Given the description of an element on the screen output the (x, y) to click on. 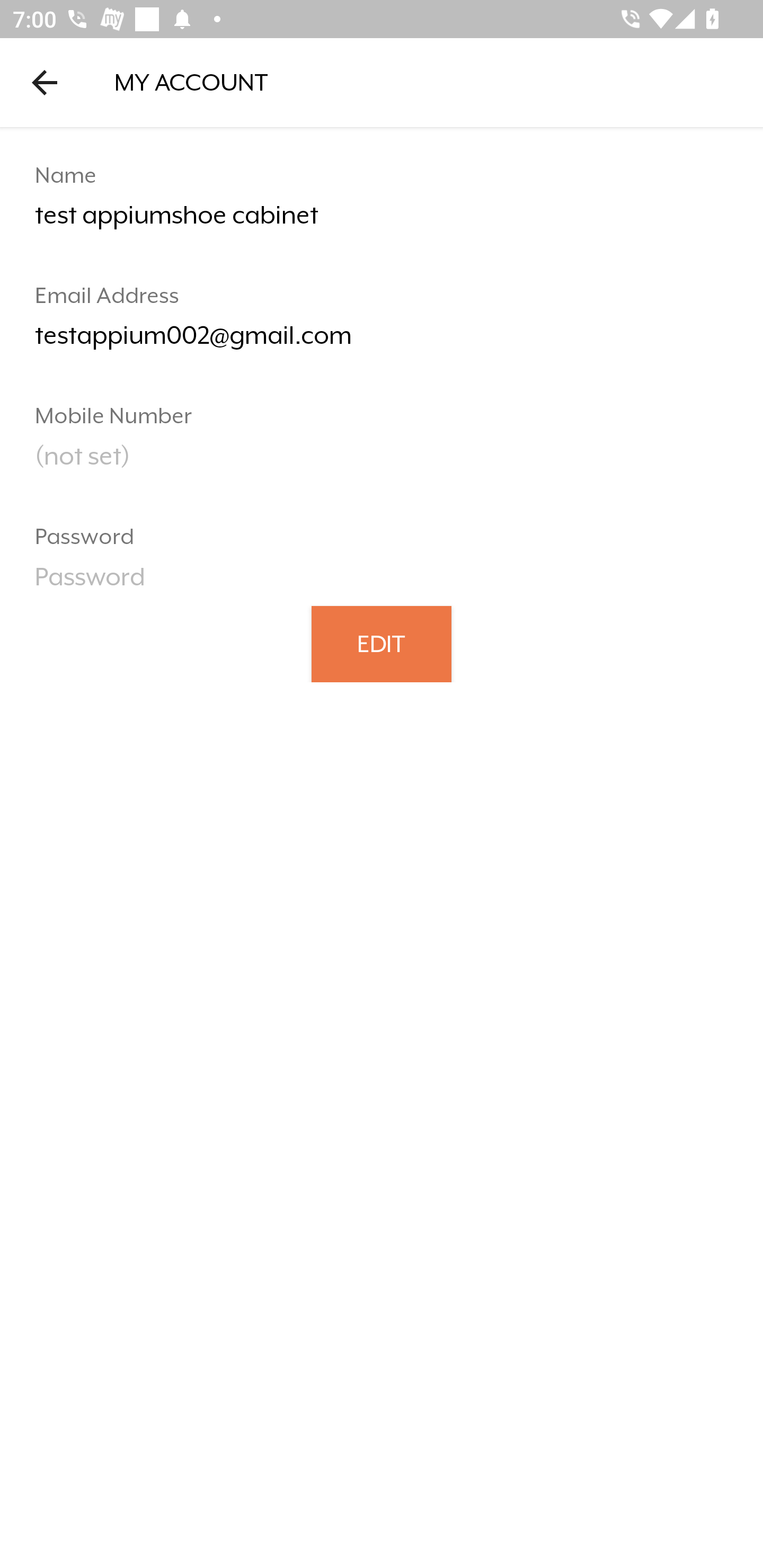
Navigate up (44, 82)
test appiumshoe cabinet (381, 222)
testappium002@gmail.com (381, 342)
Password (381, 583)
EDIT (381, 643)
